Given the description of an element on the screen output the (x, y) to click on. 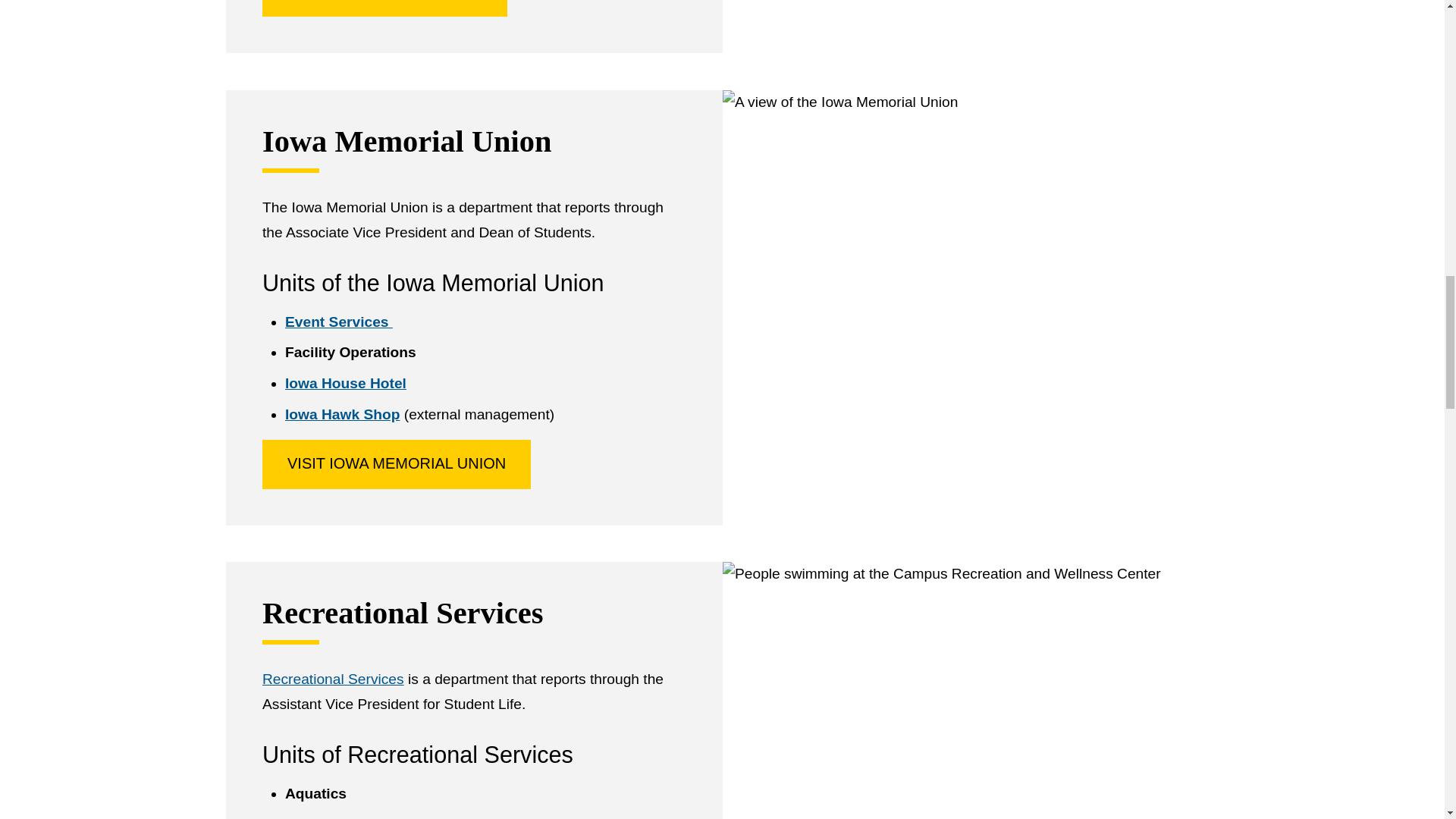
Recreational Services (333, 678)
